Given the description of an element on the screen output the (x, y) to click on. 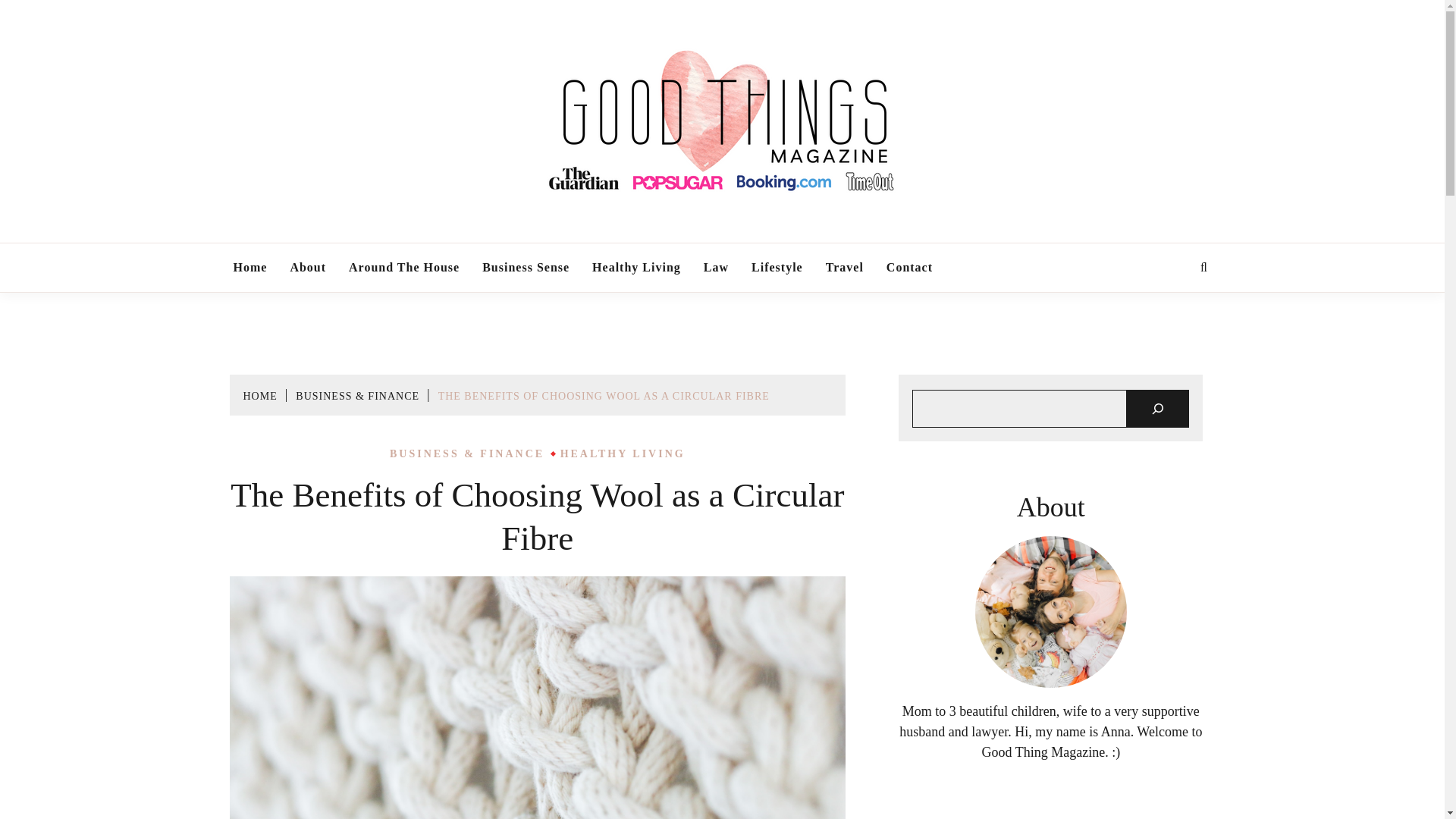
THE BENEFITS OF CHOOSING WOOL AS A CIRCULAR FIBRE (604, 396)
Around The House (404, 267)
Lifestyle (777, 267)
Law (716, 267)
Business Sense (526, 267)
Travel (844, 267)
GOOD THINGS MAGAZINE (891, 235)
Healthy Living (636, 267)
Home (249, 267)
HOME (259, 396)
About (307, 267)
Contact (909, 267)
HEALTHY LIVING (622, 453)
